Given the description of an element on the screen output the (x, y) to click on. 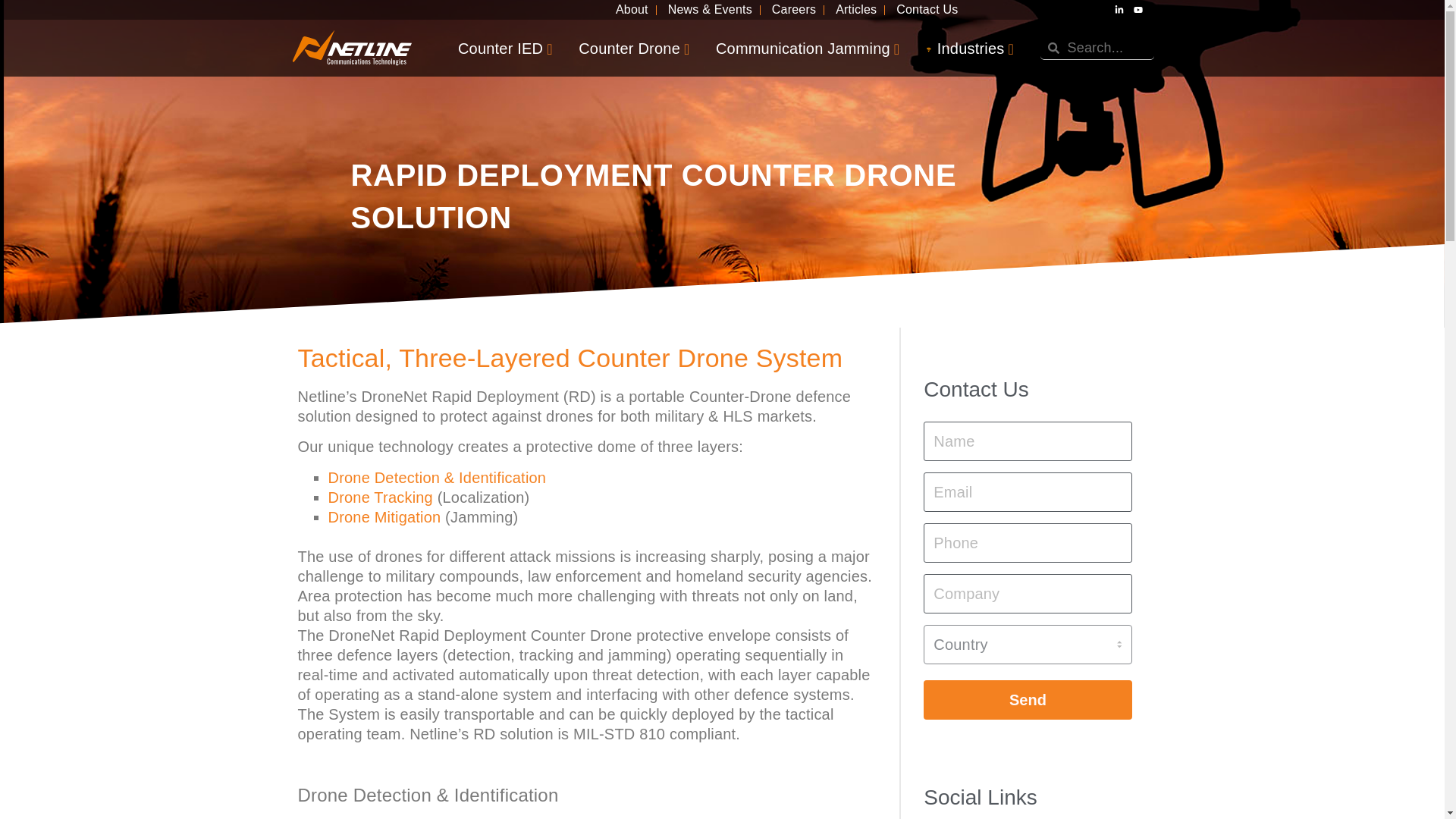
Communication Jamming (807, 47)
Counter Drone (633, 47)
About (629, 9)
Articles (853, 9)
Counter IED (505, 47)
Contact Us (925, 9)
Send (1027, 699)
Careers (791, 9)
